Given the description of an element on the screen output the (x, y) to click on. 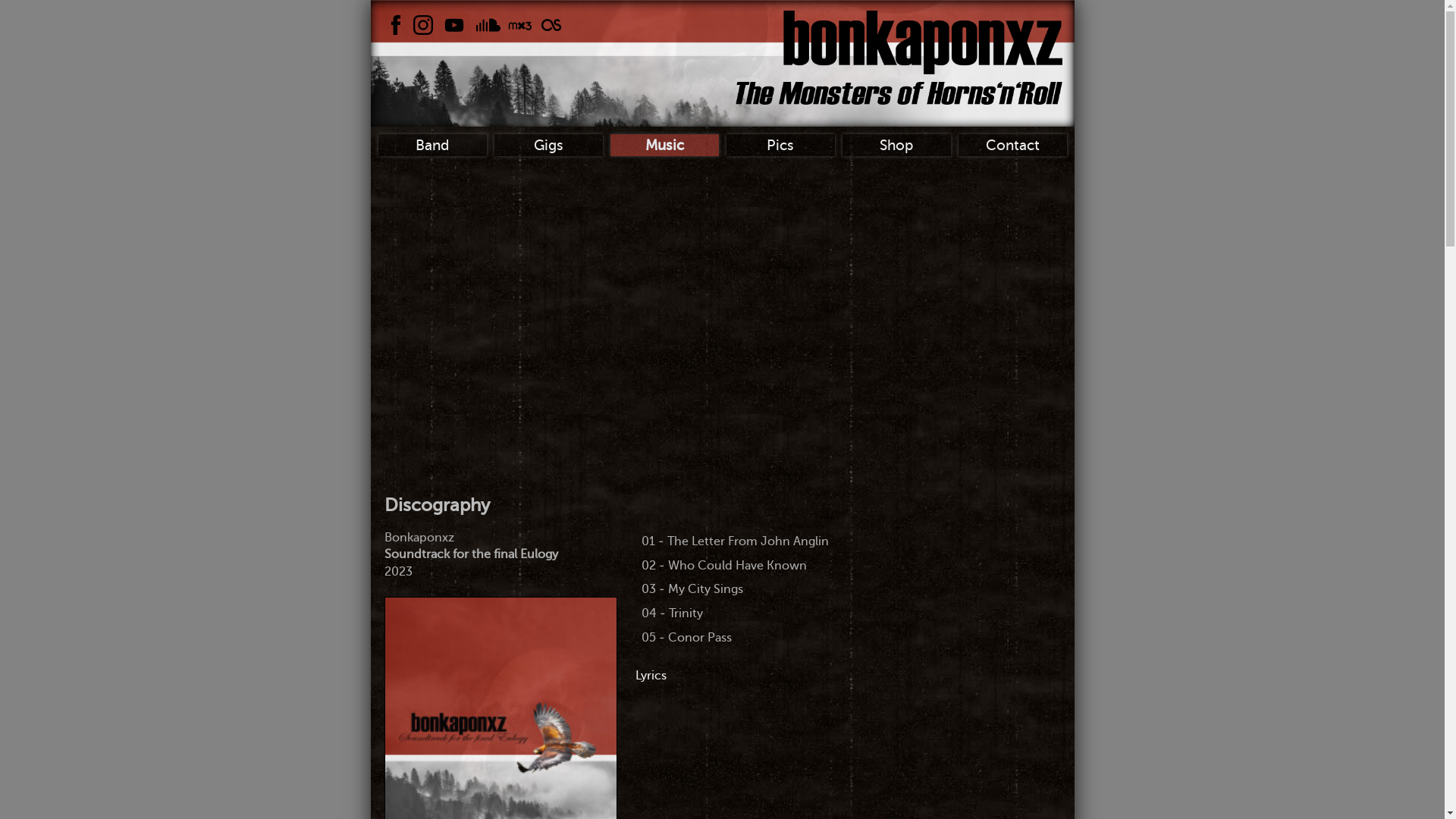
Shop Element type: text (895, 145)
Band Element type: text (431, 145)
home Element type: hover (898, 57)
http://soundcloud.com/bonkaponxz Element type: hover (488, 24)
https://www.instagram.com/bonkaponxz/ Element type: hover (422, 24)
Pics Element type: text (780, 145)
http://mx3.ch/bonkaponxz Element type: hover (520, 24)
http://www.last.fm/music/Bonkaponxz Element type: hover (551, 24)
Music Element type: text (663, 145)
Gigs Element type: text (548, 145)
Lyrics Element type: text (650, 675)
Contact Element type: text (1012, 145)
start Element type: hover (898, 56)
http://www.facebook.com/bonkaponxz/ Element type: hover (395, 24)
eulogy-cover.jpg Element type: hover (500, 712)
